Given the description of an element on the screen output the (x, y) to click on. 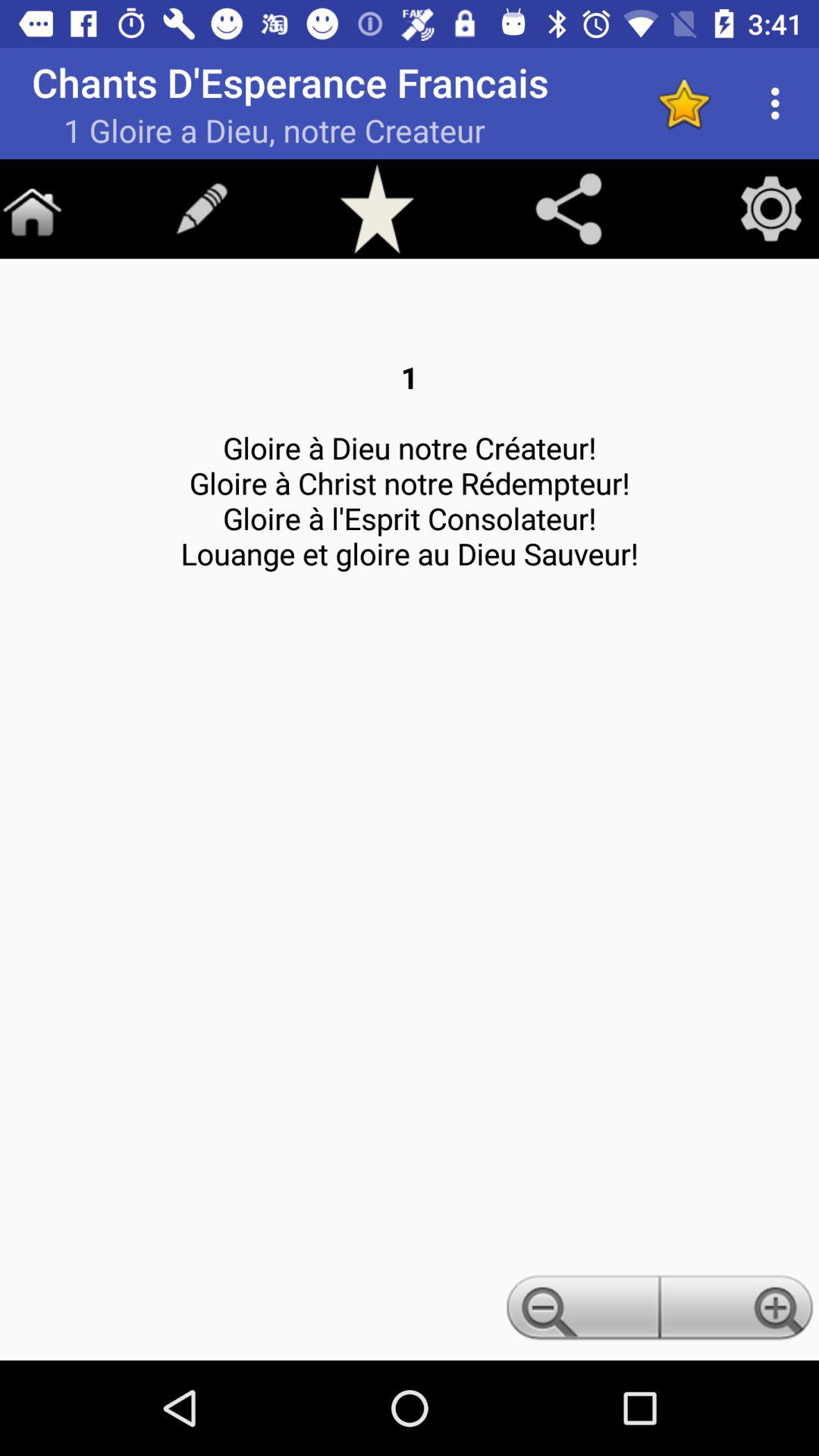
tap item below chants d esperance item (568, 208)
